Given the description of an element on the screen output the (x, y) to click on. 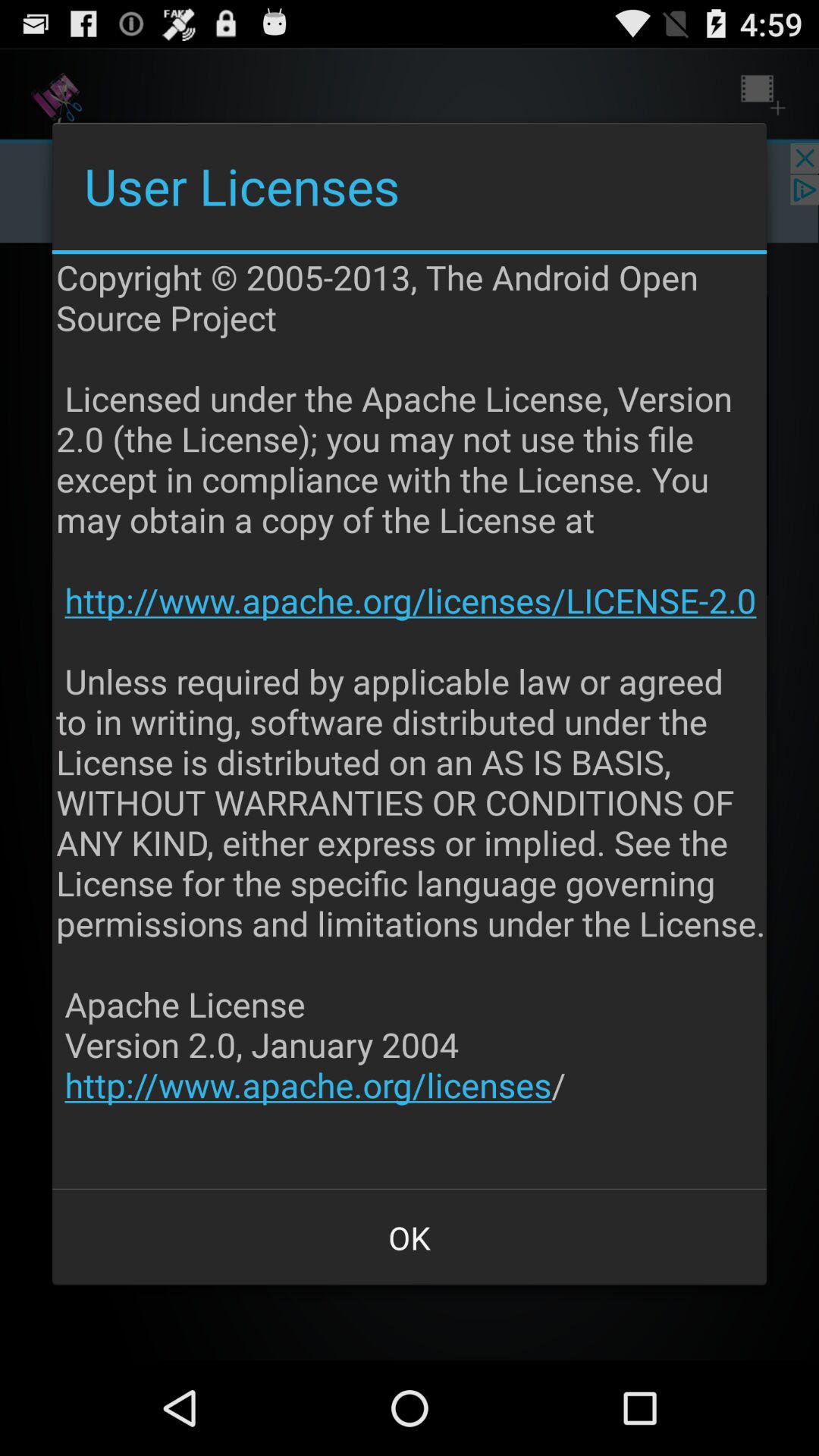
scroll to ok button (409, 1237)
